Given the description of an element on the screen output the (x, y) to click on. 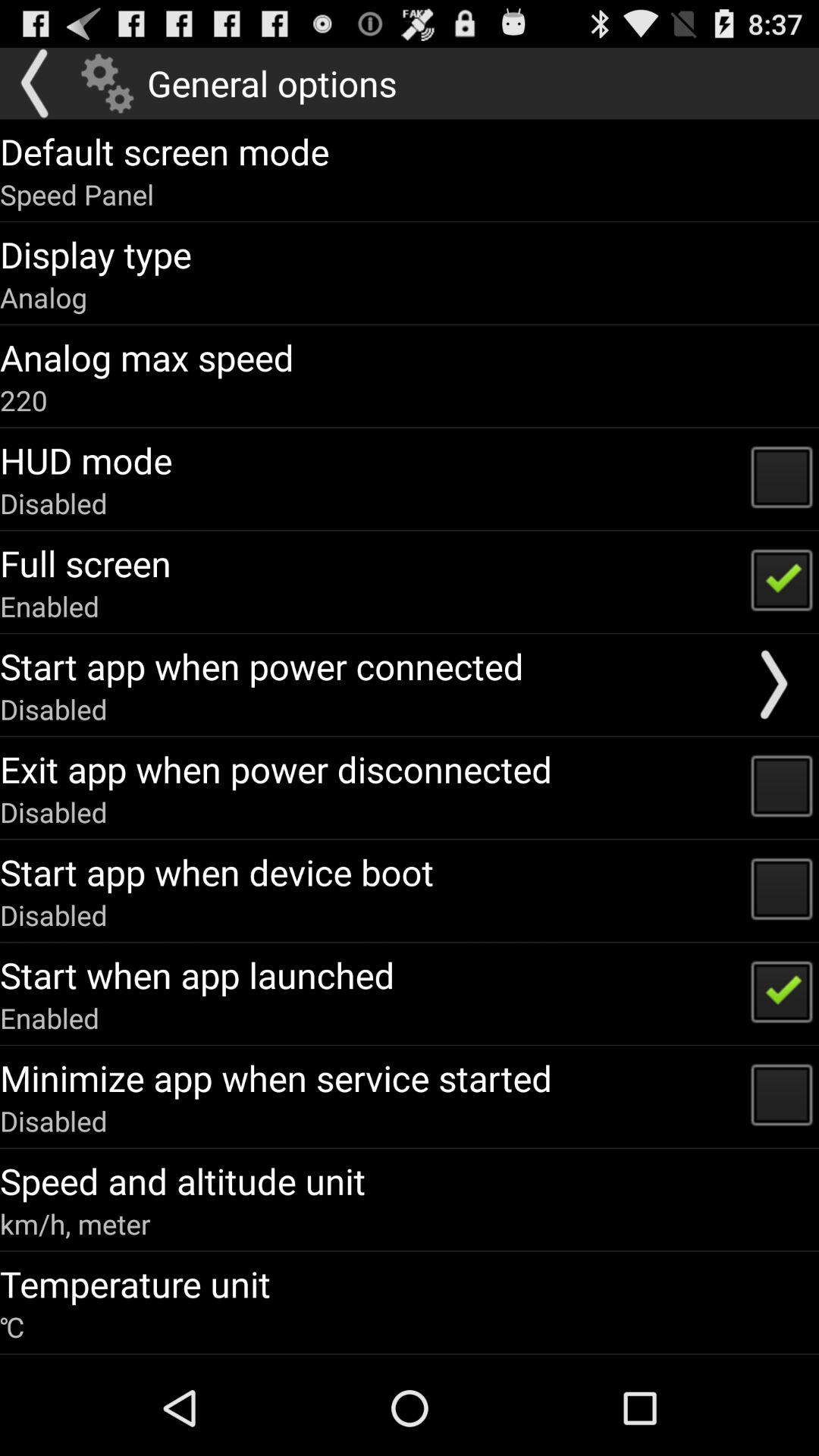
choose the default screen mode app (164, 151)
